Given the description of an element on the screen output the (x, y) to click on. 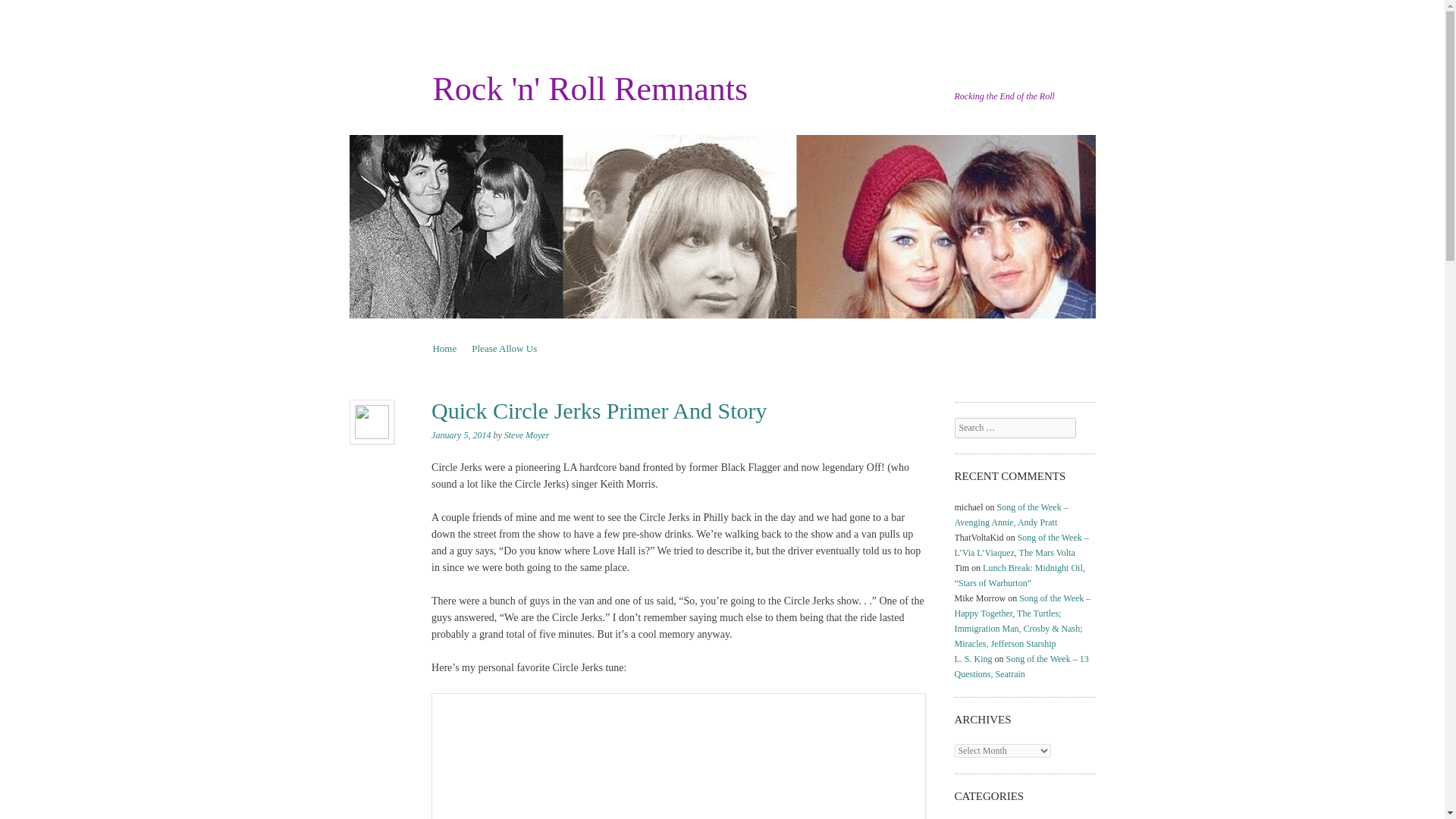
View all posts by Steve Moyer (526, 434)
Rock 'n' Roll Remnants (590, 88)
L. S. King (973, 658)
2:43 am (460, 434)
Skip to content (462, 348)
Search (32, 11)
January 5, 2014 (460, 434)
Rock 'n' Roll Remnants (590, 88)
Skip to content (462, 348)
Home (444, 348)
Please Allow Us (504, 348)
Steve Moyer (526, 434)
